Given the description of an element on the screen output the (x, y) to click on. 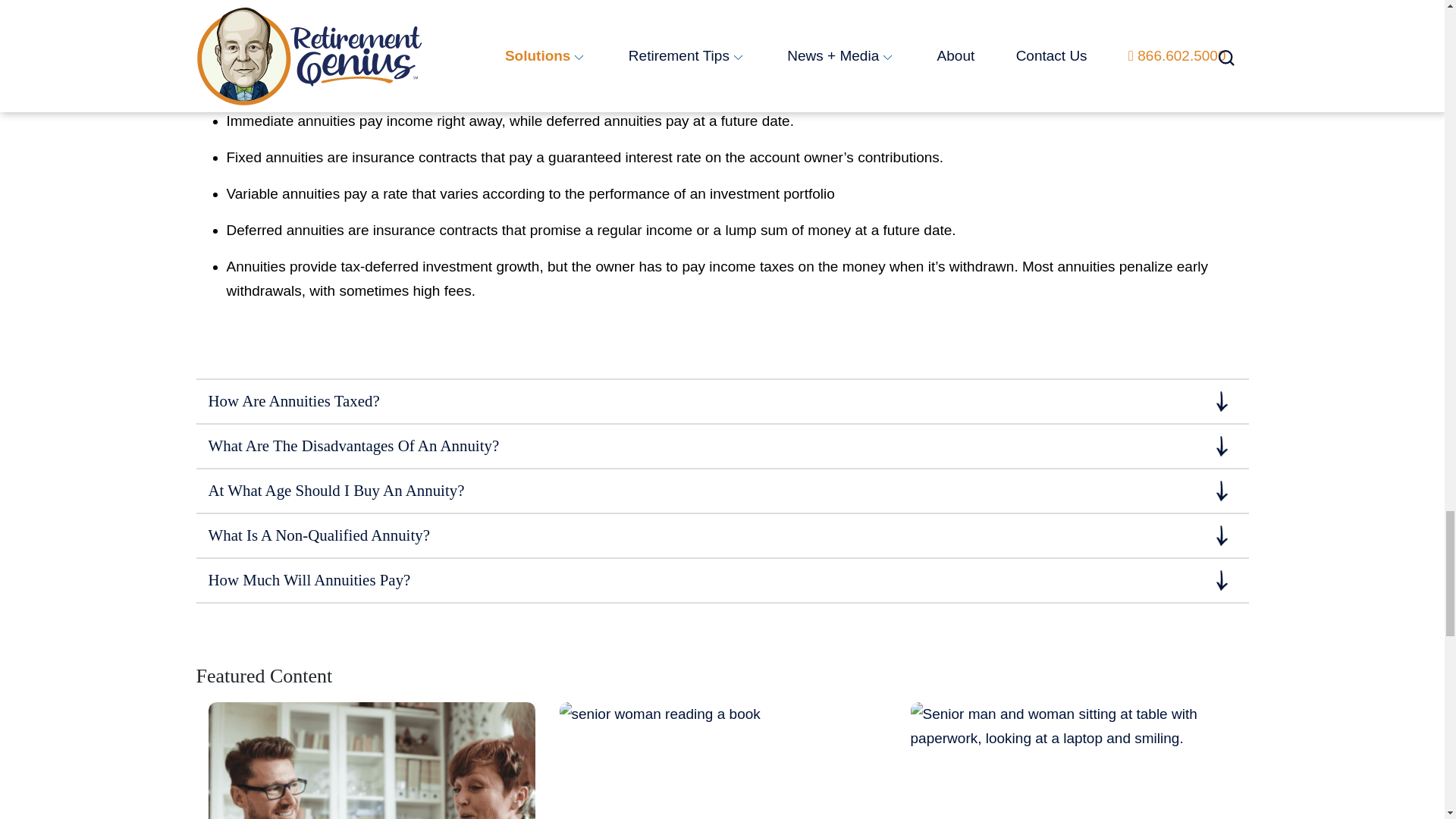
At What Age Should I Buy An Annuity? (721, 490)
What Are The Disadvantages Of An Annuity? (721, 446)
How Are Annuities Taxed? (721, 401)
